Given the description of an element on the screen output the (x, y) to click on. 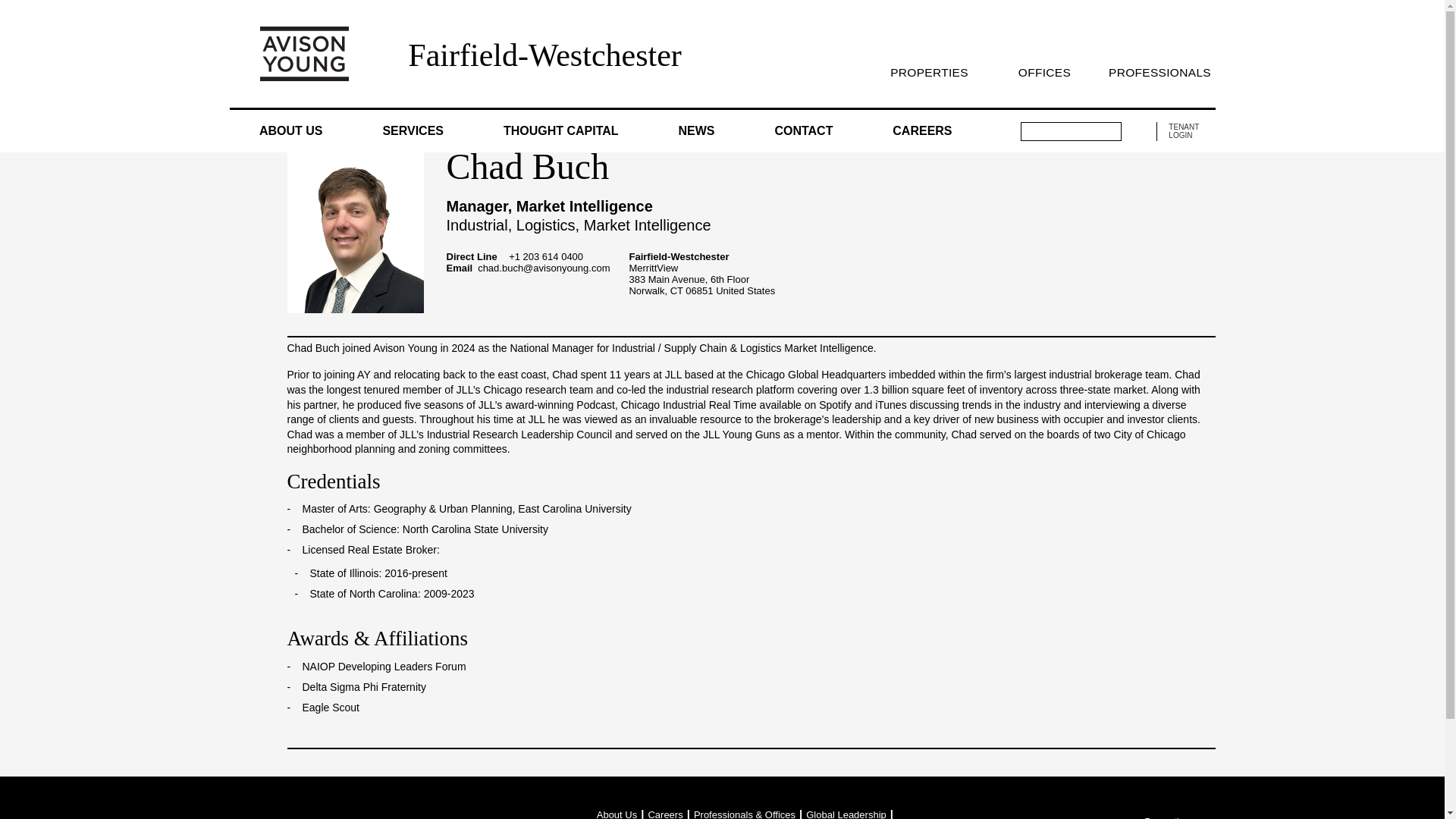
PROPERTIES (928, 72)
Fairfield-Westchester (544, 54)
Skip to Main Content (5, 5)
OFFICES (1043, 72)
